Given the description of an element on the screen output the (x, y) to click on. 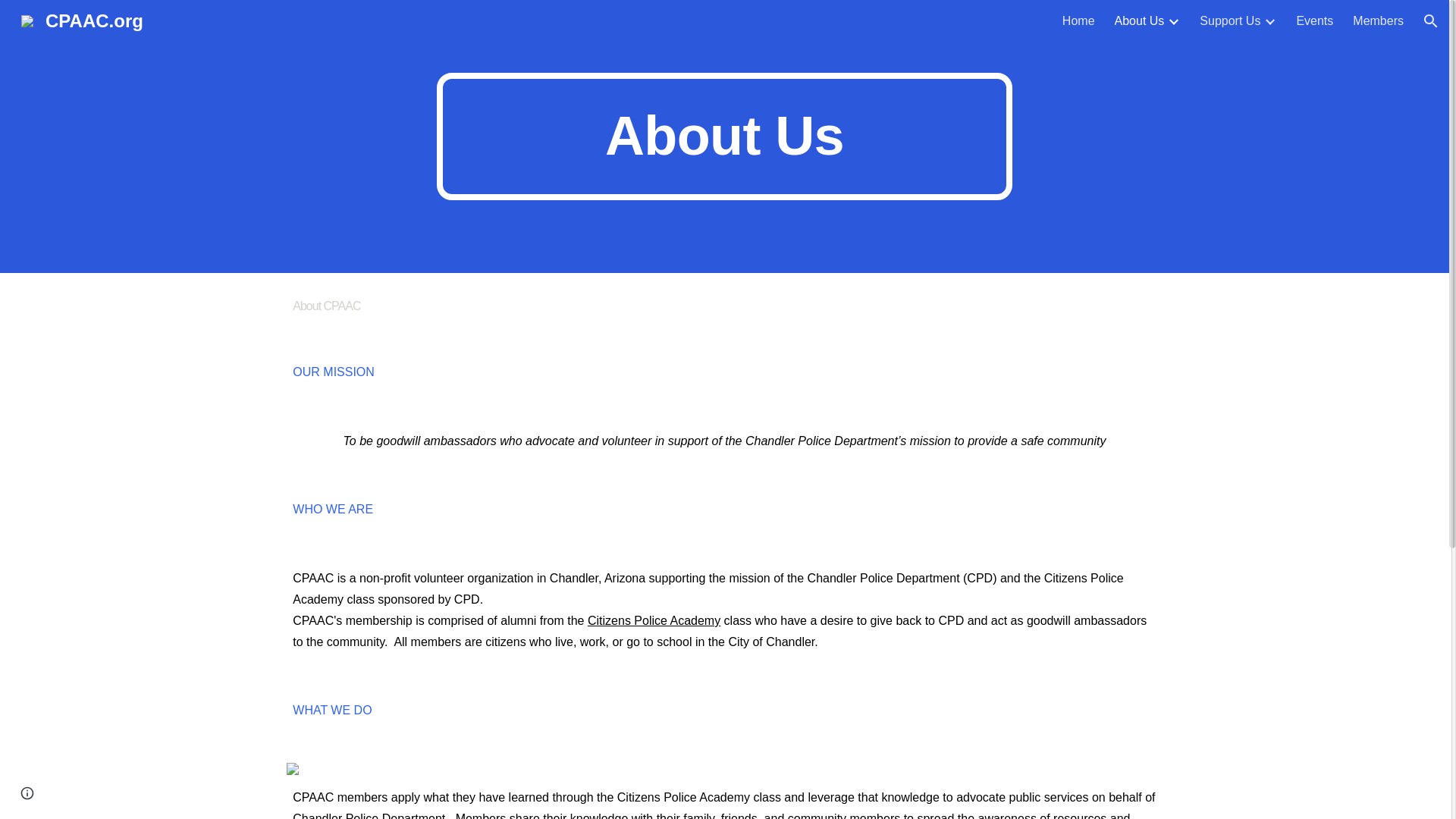
CPAAC.org (81, 19)
Home (1078, 20)
Support Us (1229, 20)
About Us (1139, 20)
Events (1314, 20)
Members (1377, 20)
